Given the description of an element on the screen output the (x, y) to click on. 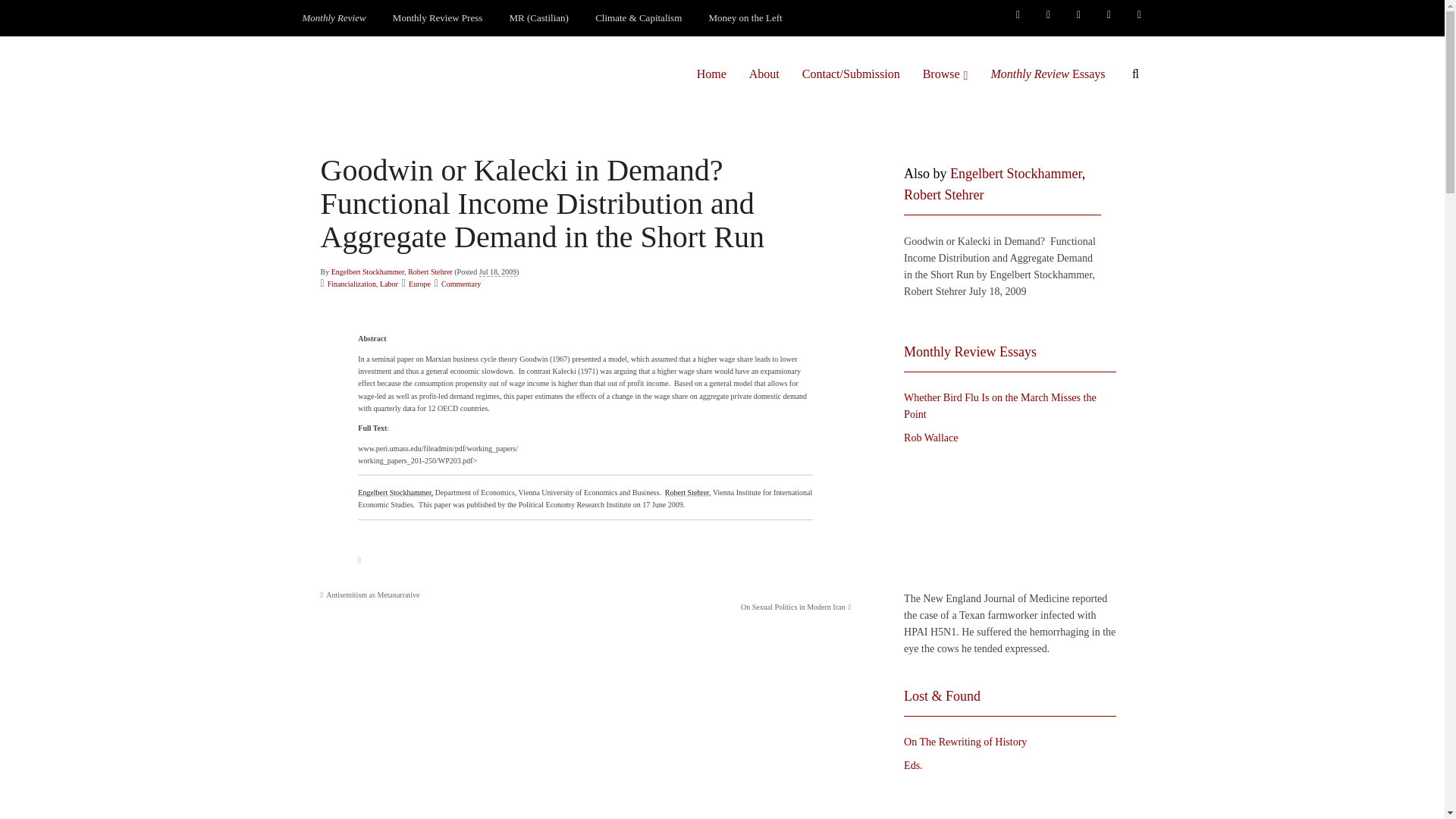
Posts by Rob Wallace (931, 437)
On The Rewriting of History (1006, 798)
Monthly Review (333, 18)
About (764, 74)
Monthly Review Magazine (333, 18)
Browse (945, 74)
Money on the Left (745, 18)
Home (711, 74)
Posts by Eds. (913, 765)
Whether Bird Flu Is on the March Misses the Point (1006, 518)
Home (711, 74)
Monthly Review Press (437, 18)
